Given the description of an element on the screen output the (x, y) to click on. 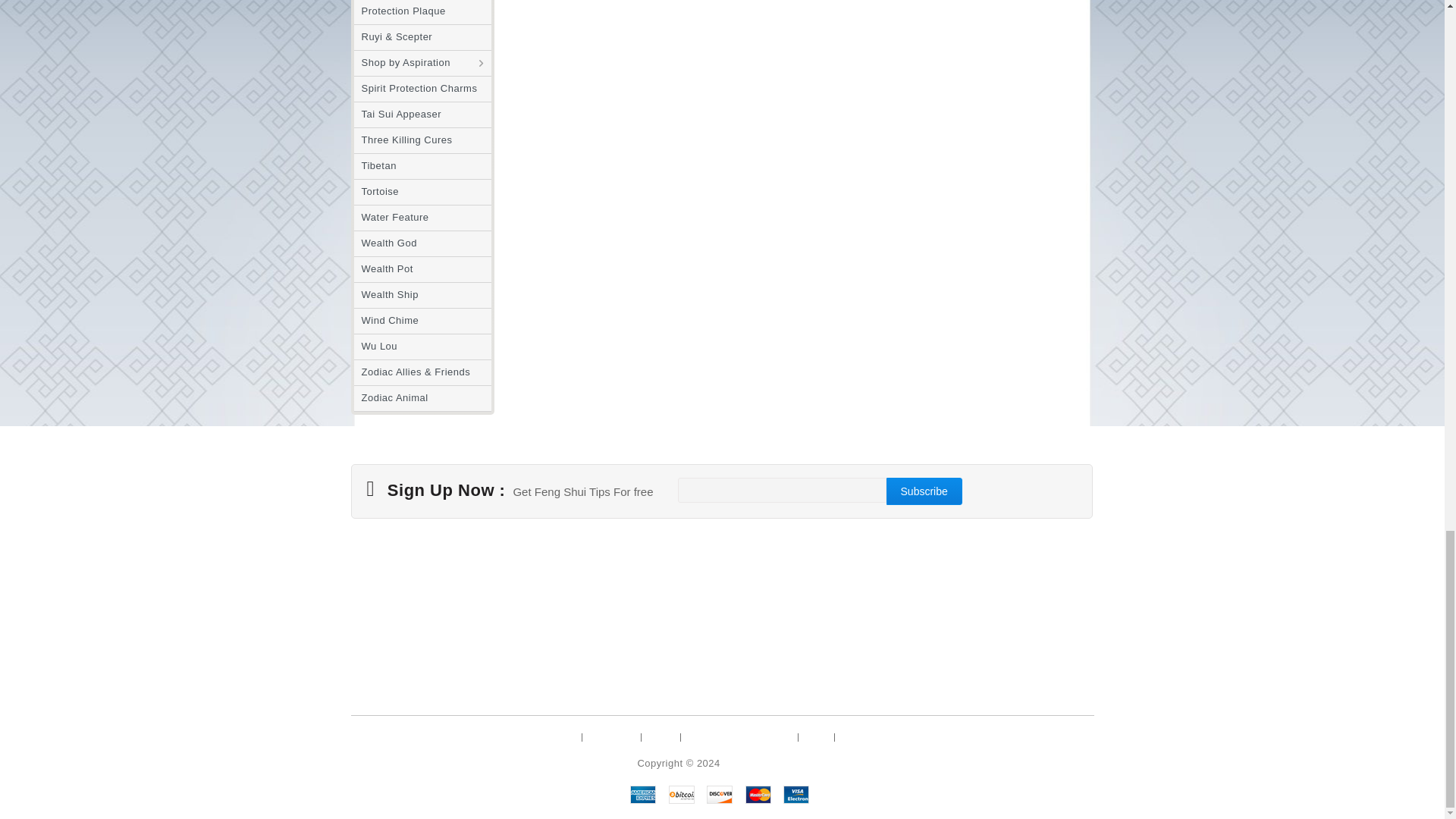
Buy-FengShui.com (765, 763)
Subscribe (924, 491)
